Given the description of an element on the screen output the (x, y) to click on. 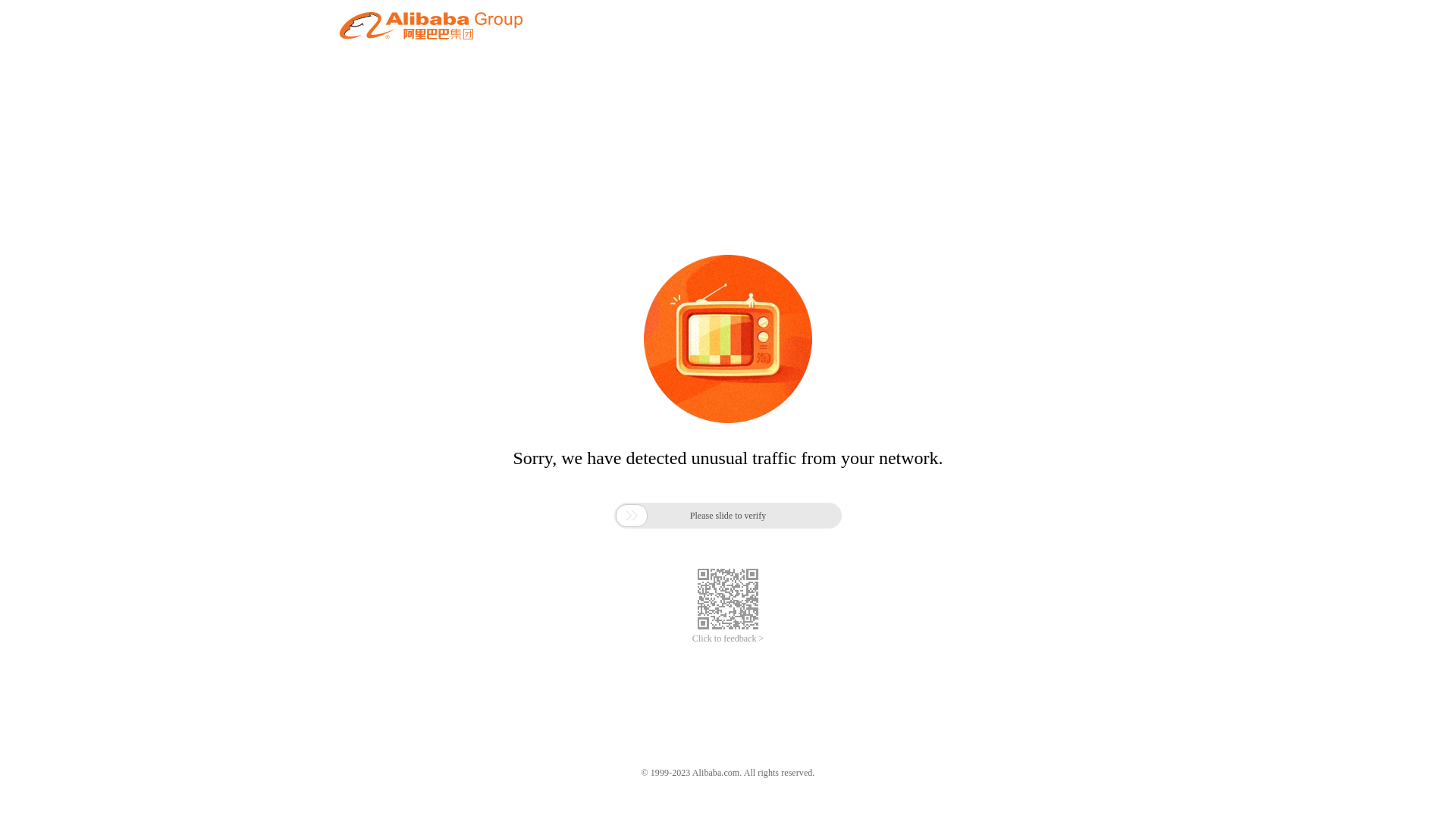
Click to feedback > Element type: text (727, 638)
